Given the description of an element on the screen output the (x, y) to click on. 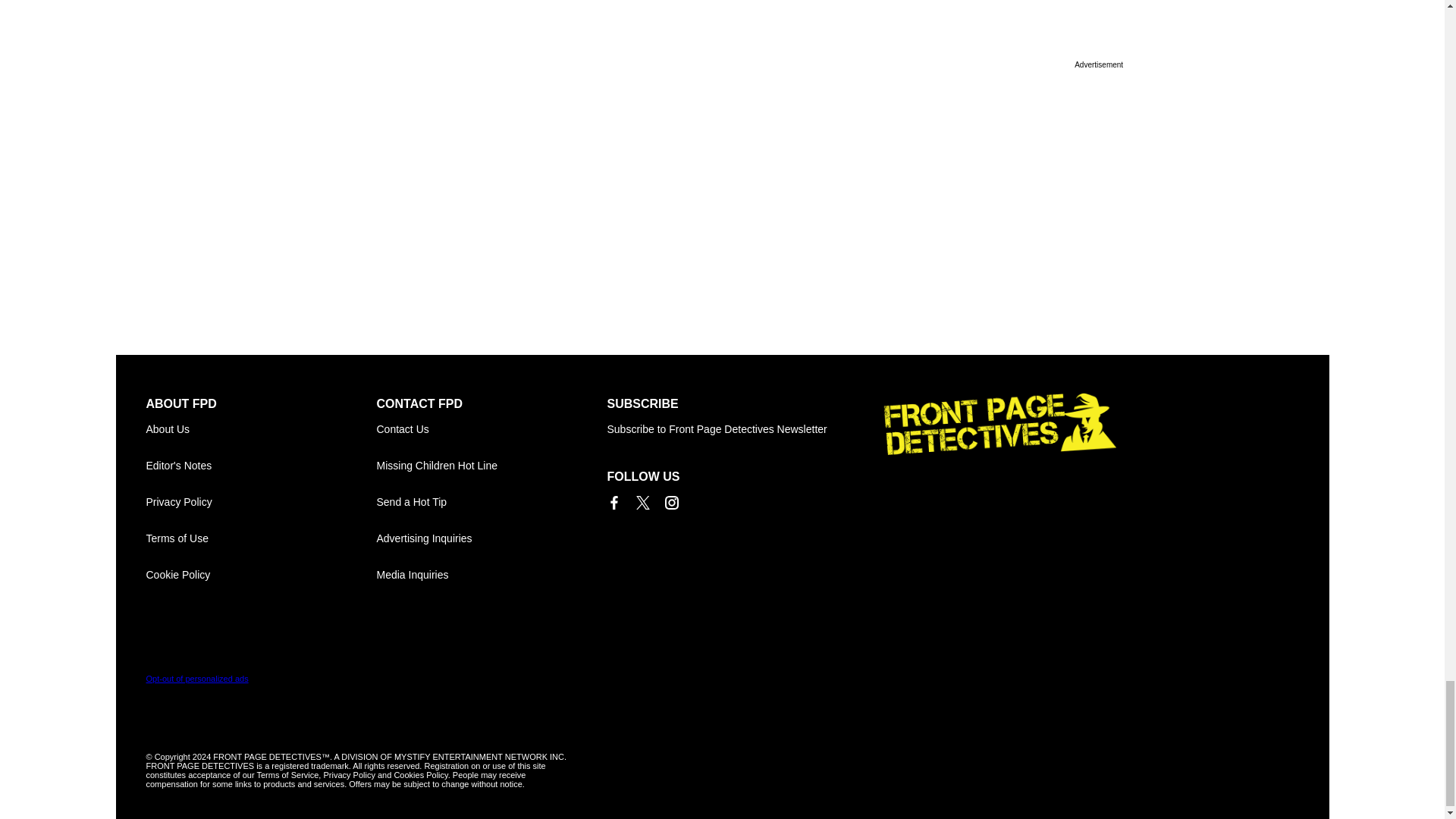
Link to Facebook (613, 502)
Editor's Notes (260, 465)
Link to X (641, 502)
Privacy Policy (260, 502)
Cookie Policy (260, 574)
Terms of Use (260, 538)
Link to Instagram (670, 502)
Contact Us (491, 429)
About Front Page Detectives (260, 429)
